Given the description of an element on the screen output the (x, y) to click on. 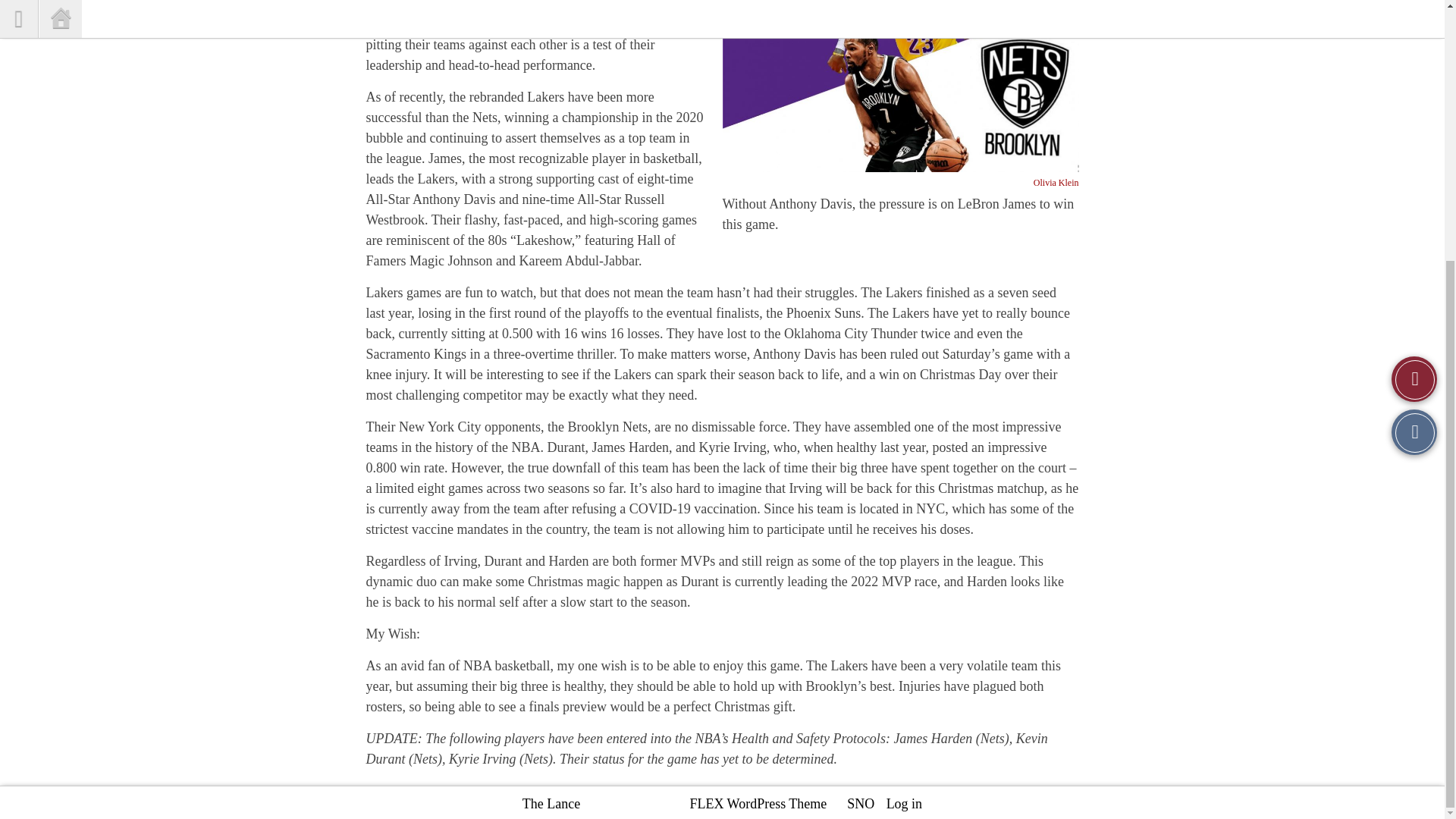
Print this Story (1414, 58)
